Given the description of an element on the screen output the (x, y) to click on. 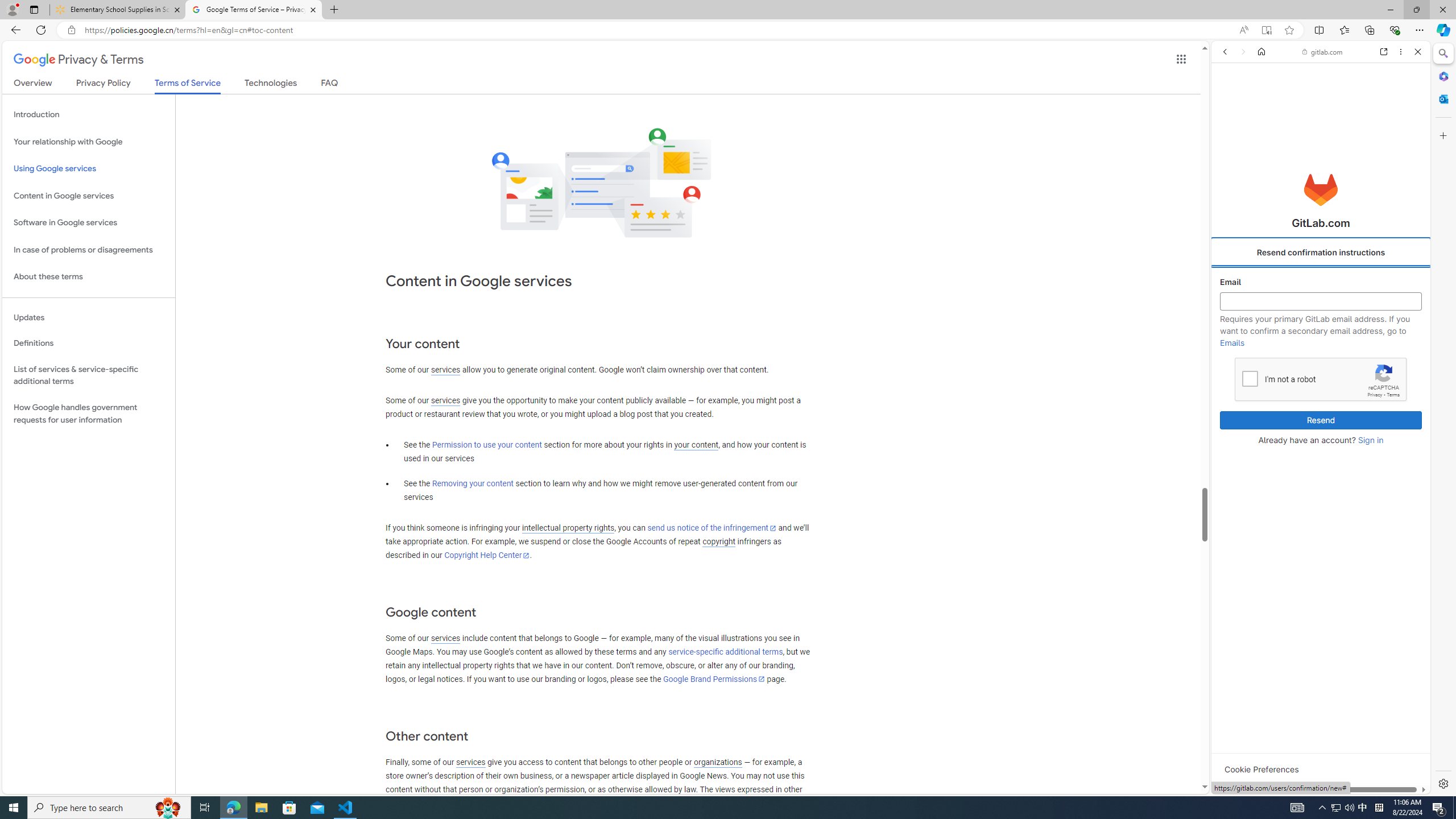
Dashboard (1320, 365)
Resend (1321, 420)
Register Now (1320, 253)
Emails (1232, 342)
Confirmation Page (1320, 392)
Dashboard (1320, 364)
About GitLab (1320, 336)
I'm not a robot (1249, 378)
About GitLab (1320, 337)
